Given the description of an element on the screen output the (x, y) to click on. 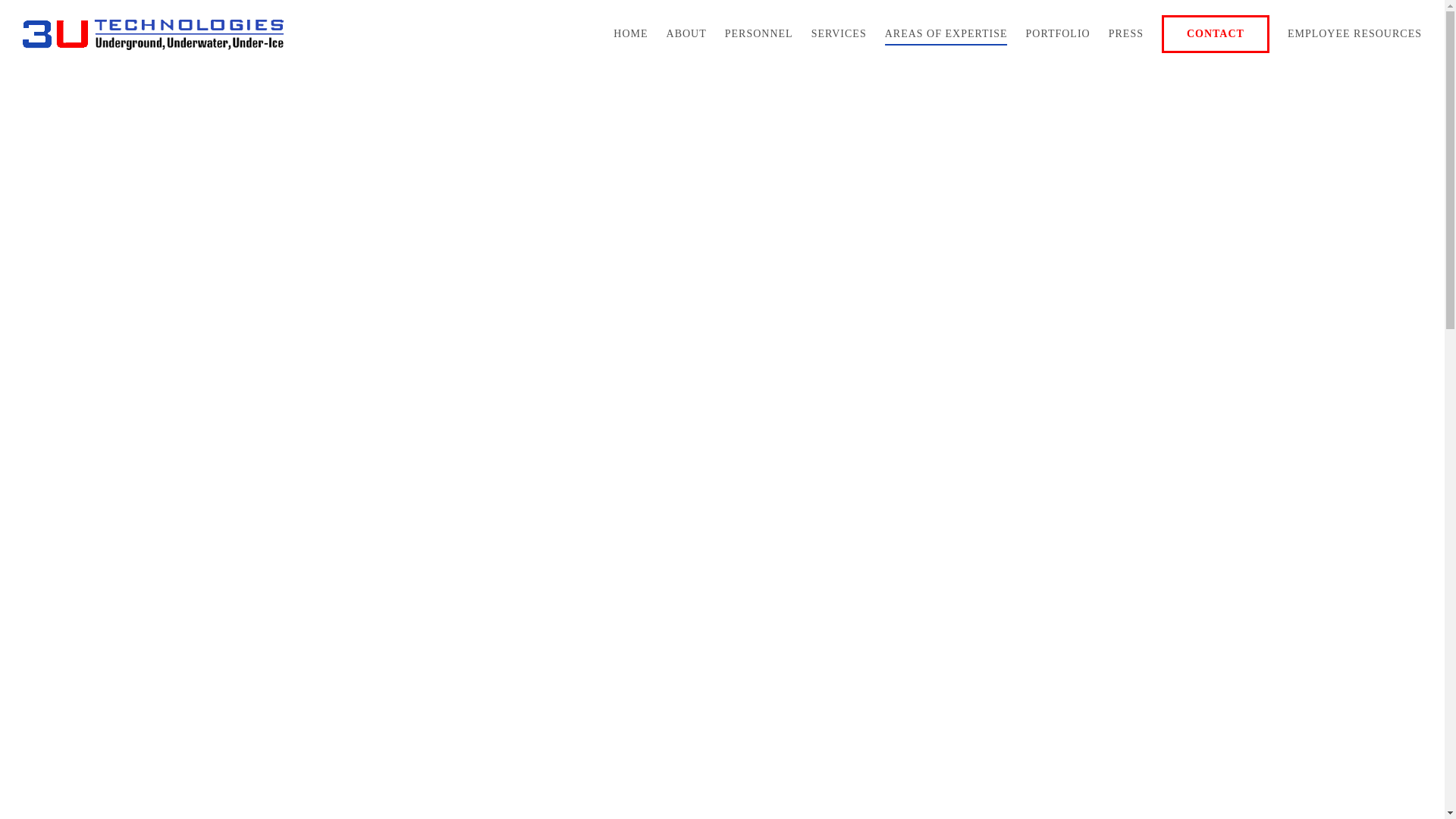
HOME Element type: text (630, 33)
EMPLOYEE RESOURCES Element type: text (1354, 33)
CONTACT Element type: text (1215, 34)
SERVICES Element type: text (838, 33)
PERSONNEL Element type: text (758, 33)
PRESS Element type: text (1125, 33)
PORTFOLIO Element type: text (1058, 33)
AREAS OF EXPERTISE Element type: text (945, 33)
ABOUT Element type: text (686, 33)
